Given the description of an element on the screen output the (x, y) to click on. 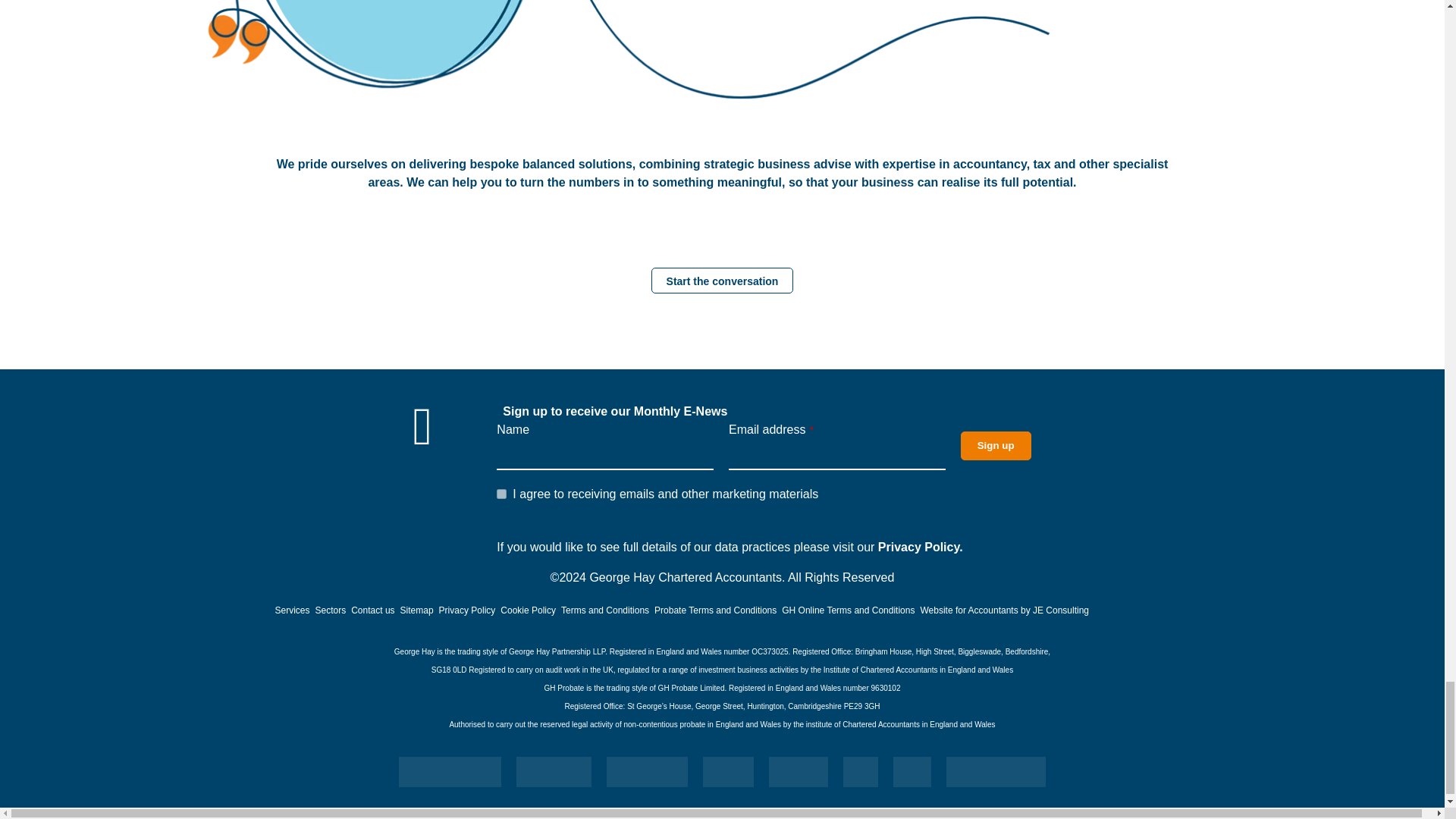
I agree to receiving emails and other marketing materials (501, 493)
